Given the description of an element on the screen output the (x, y) to click on. 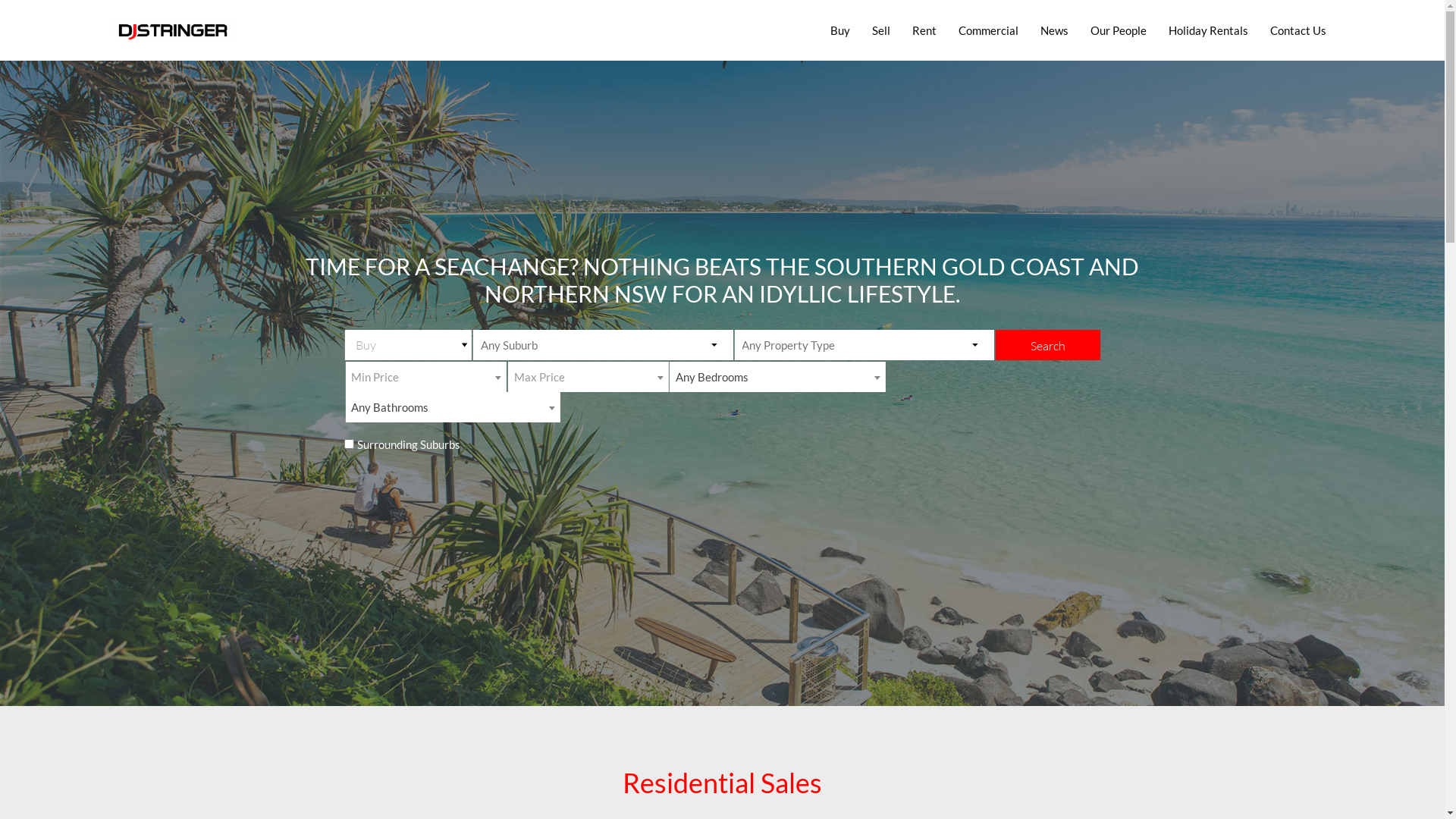
Our People Element type: text (1118, 30)
Rent Element type: text (924, 30)
Commercial Element type: text (988, 30)
News Element type: text (1054, 30)
Sell Element type: text (881, 30)
Buy Element type: text (839, 30)
Holiday Rentals Element type: text (1208, 30)
Search Element type: text (1047, 344)
Contact Us Element type: text (1298, 30)
